Given the description of an element on the screen output the (x, y) to click on. 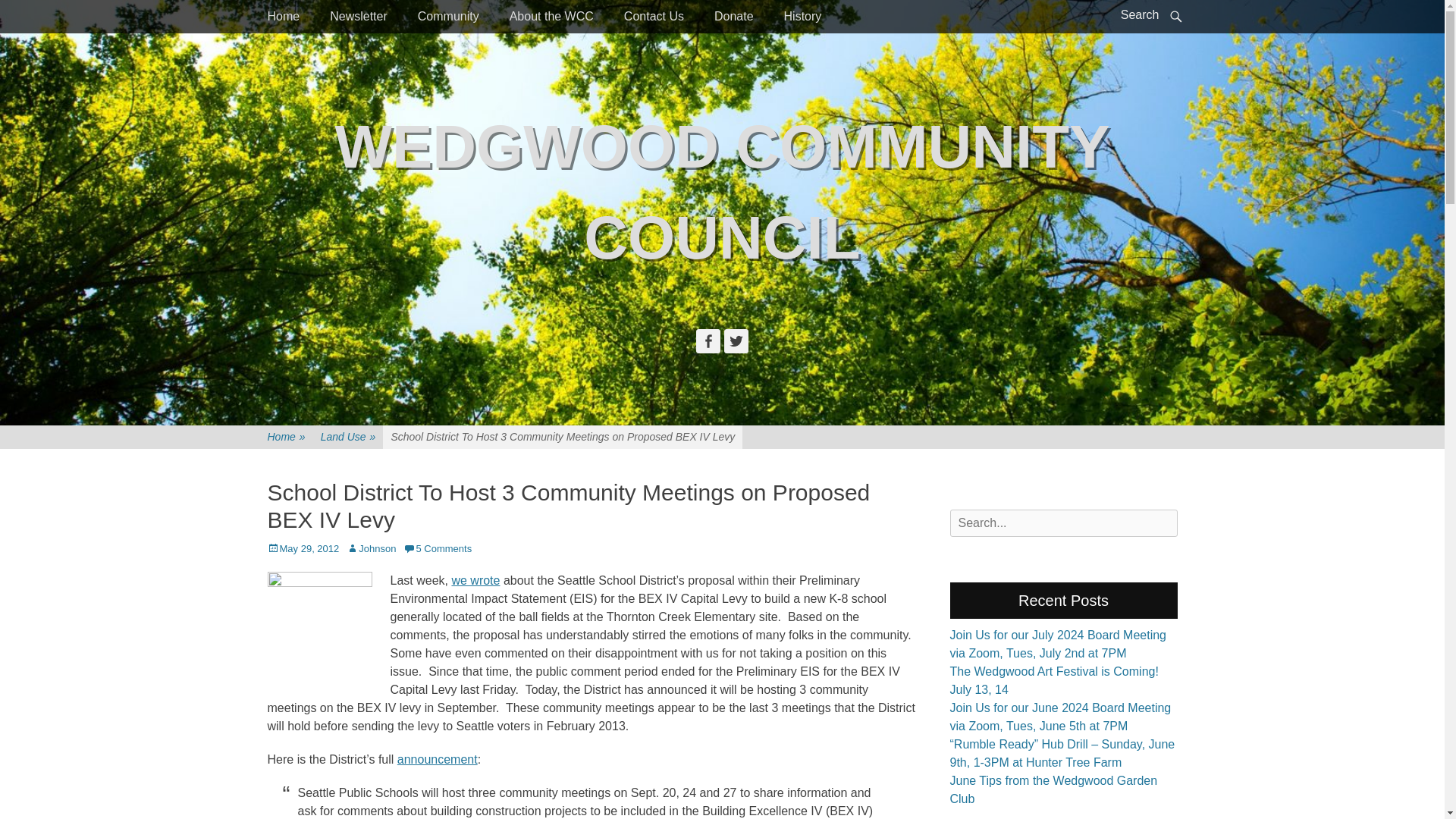
announcement (437, 758)
we wrote (475, 579)
About the WCC (551, 16)
Twitter (735, 340)
Facebook (707, 340)
Donate (733, 16)
Seattle School District logo (318, 626)
History (802, 16)
Twitter (735, 340)
Community (449, 16)
Contact Us (653, 16)
5 Comments (437, 548)
WEDGWOOD COMMUNITY COUNCIL (721, 192)
Facebook (707, 340)
Search for: (1062, 523)
